Given the description of an element on the screen output the (x, y) to click on. 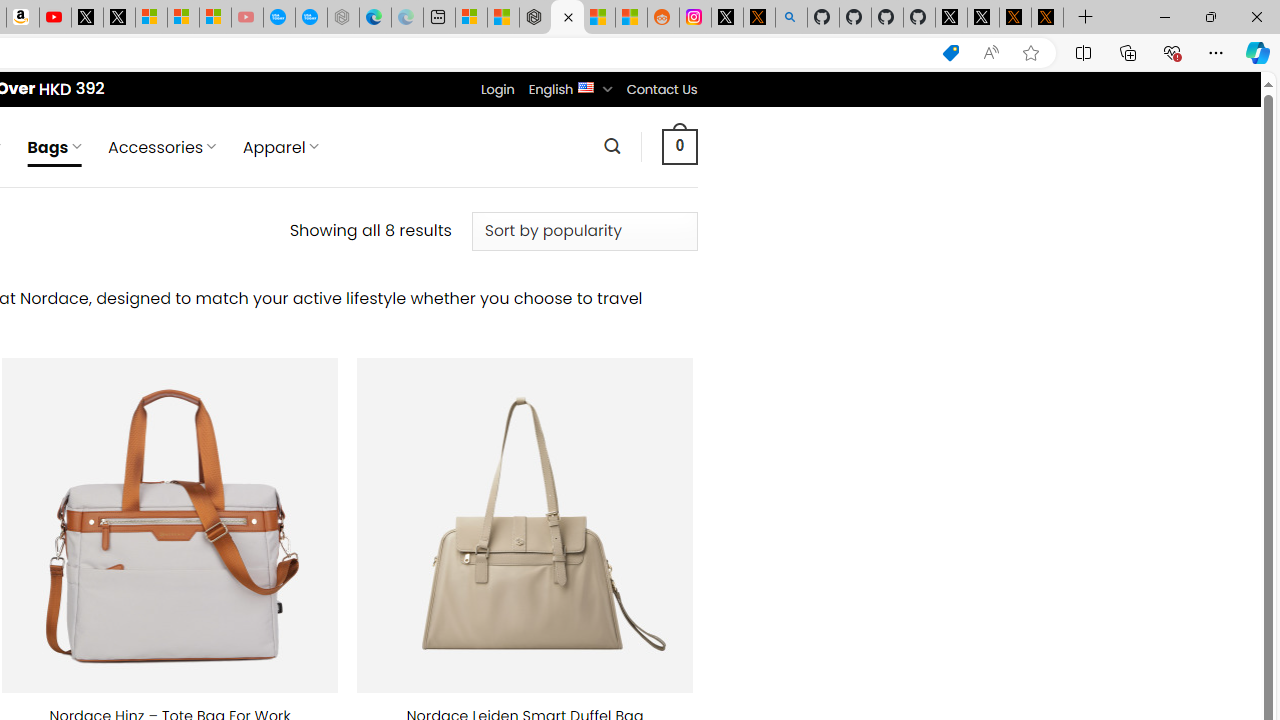
  0   (679, 146)
Microsoft account | Microsoft Account Privacy Settings (471, 17)
help.x.com | 524: A timeout occurred (758, 17)
Login (497, 89)
Shanghai, China Weather trends | Microsoft Weather (630, 17)
Gloom - YouTube - Sleeping (246, 17)
 0  (679, 146)
